Given the description of an element on the screen output the (x, y) to click on. 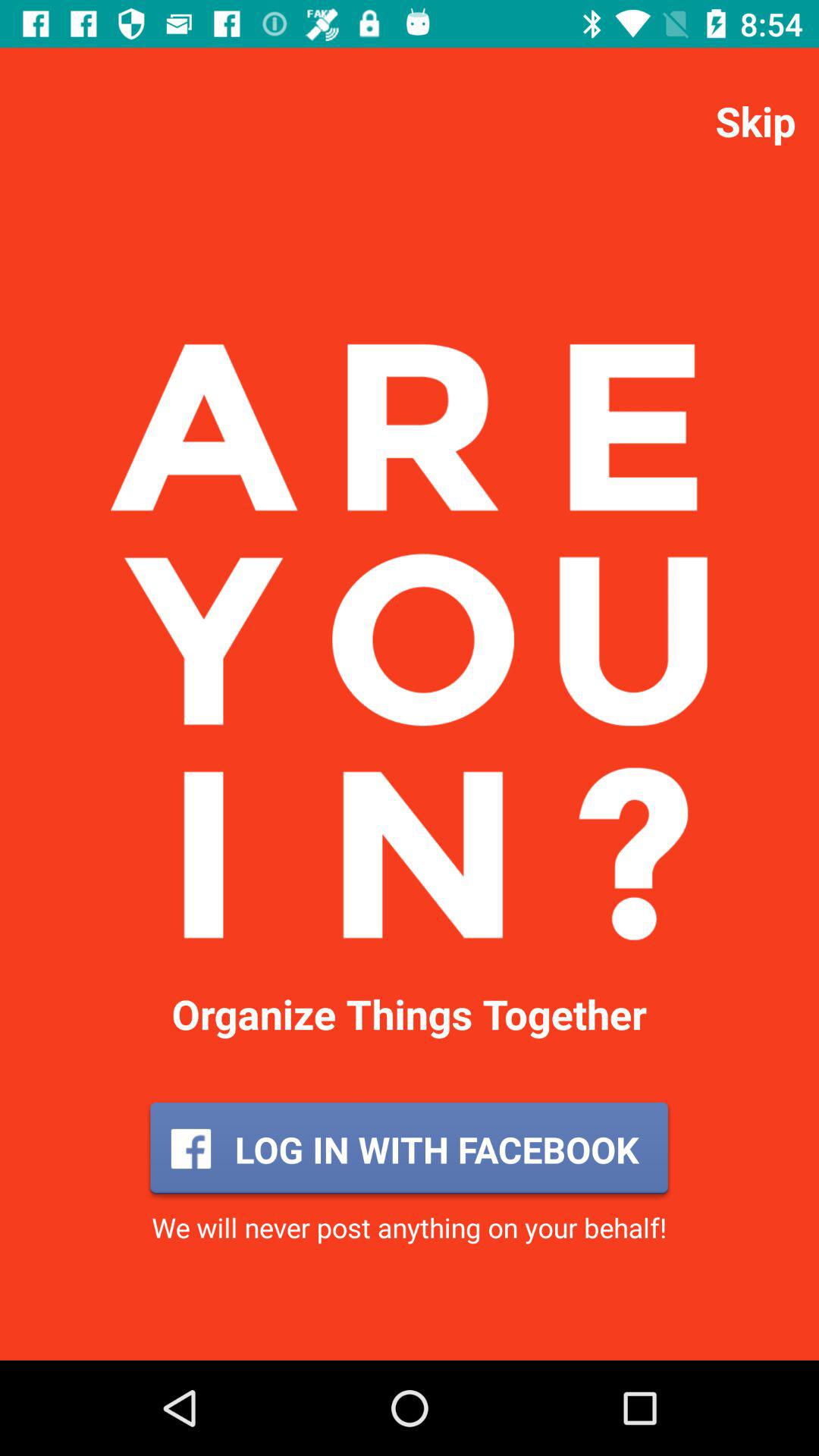
scroll until log in with icon (409, 1148)
